Given the description of an element on the screen output the (x, y) to click on. 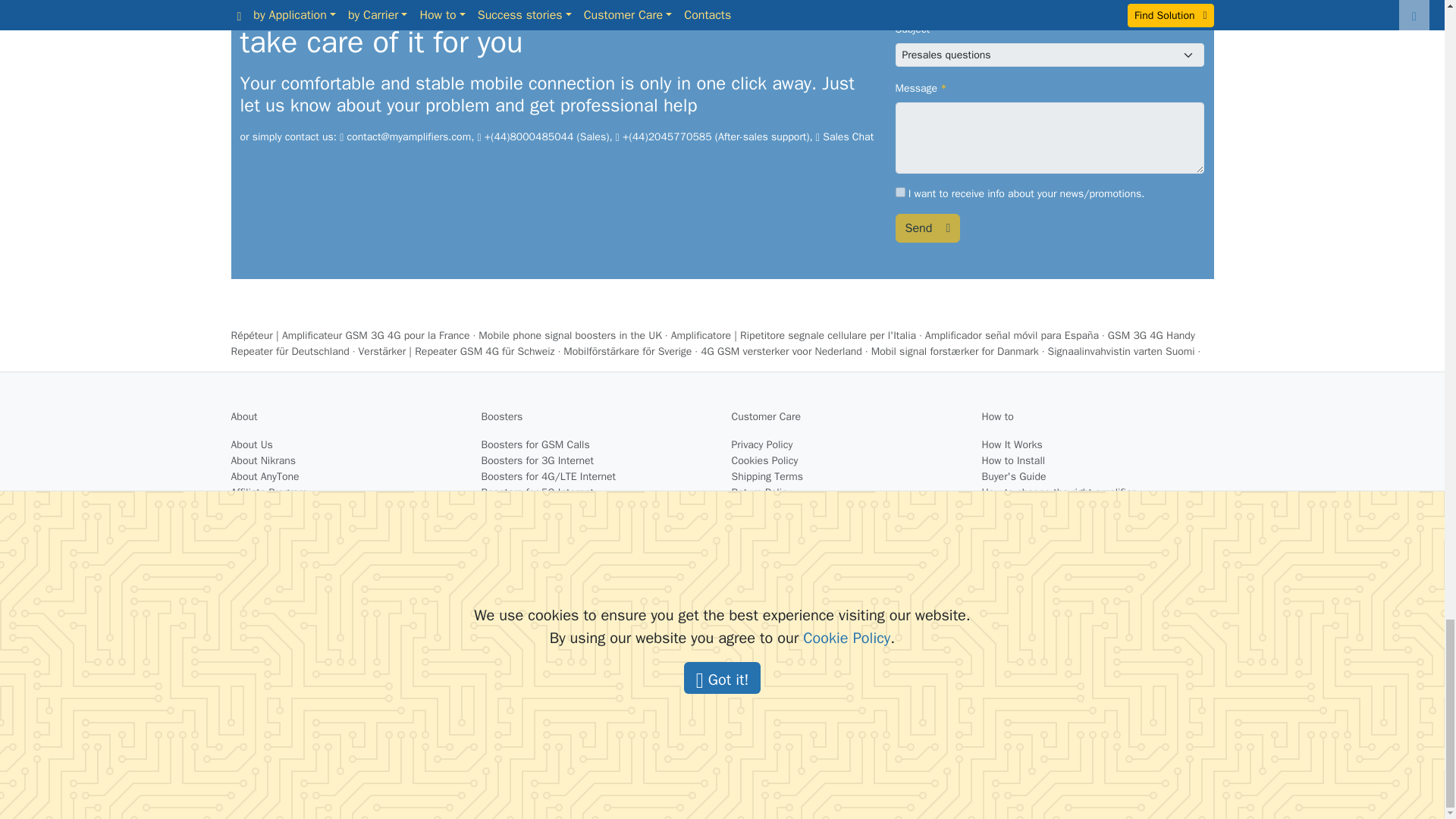
1 (899, 192)
